Given the description of an element on the screen output the (x, y) to click on. 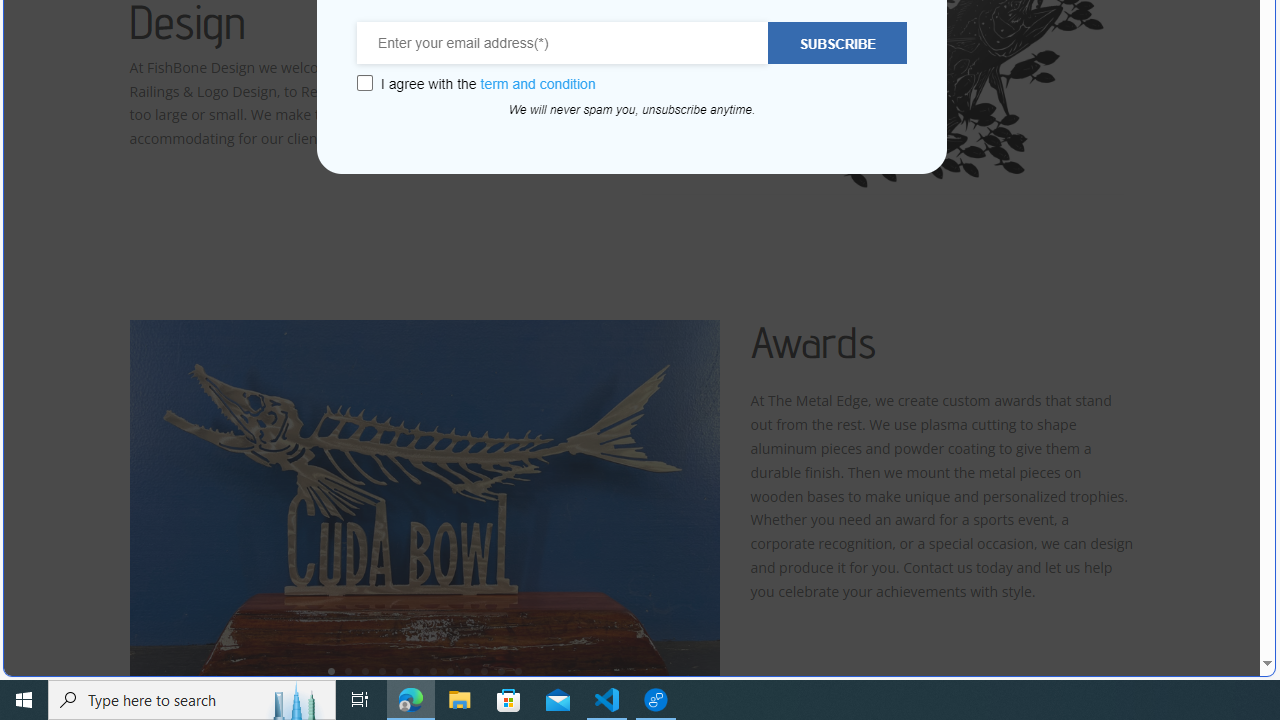
Class: wcb-gdpr-checkbox (364, 83)
9 (467, 670)
term and condition (538, 84)
6 (416, 670)
2 (348, 670)
Enter your email address(*) (563, 43)
5 (399, 670)
10 (484, 670)
4 (382, 670)
12 (518, 670)
11 (501, 670)
8 (450, 670)
7 (433, 670)
3 (365, 670)
1 (331, 670)
